Given the description of an element on the screen output the (x, y) to click on. 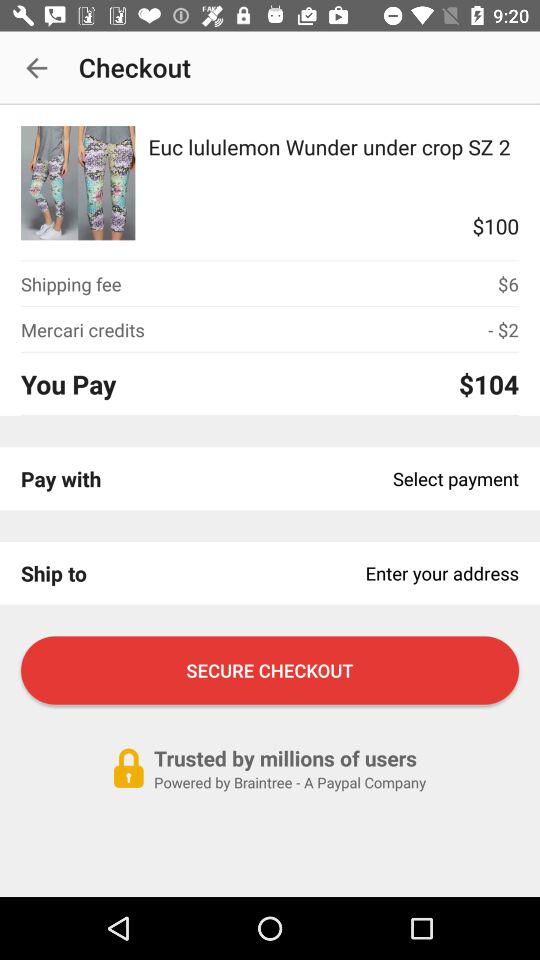
choose the icon above trusted by millions item (270, 670)
